Given the description of an element on the screen output the (x, y) to click on. 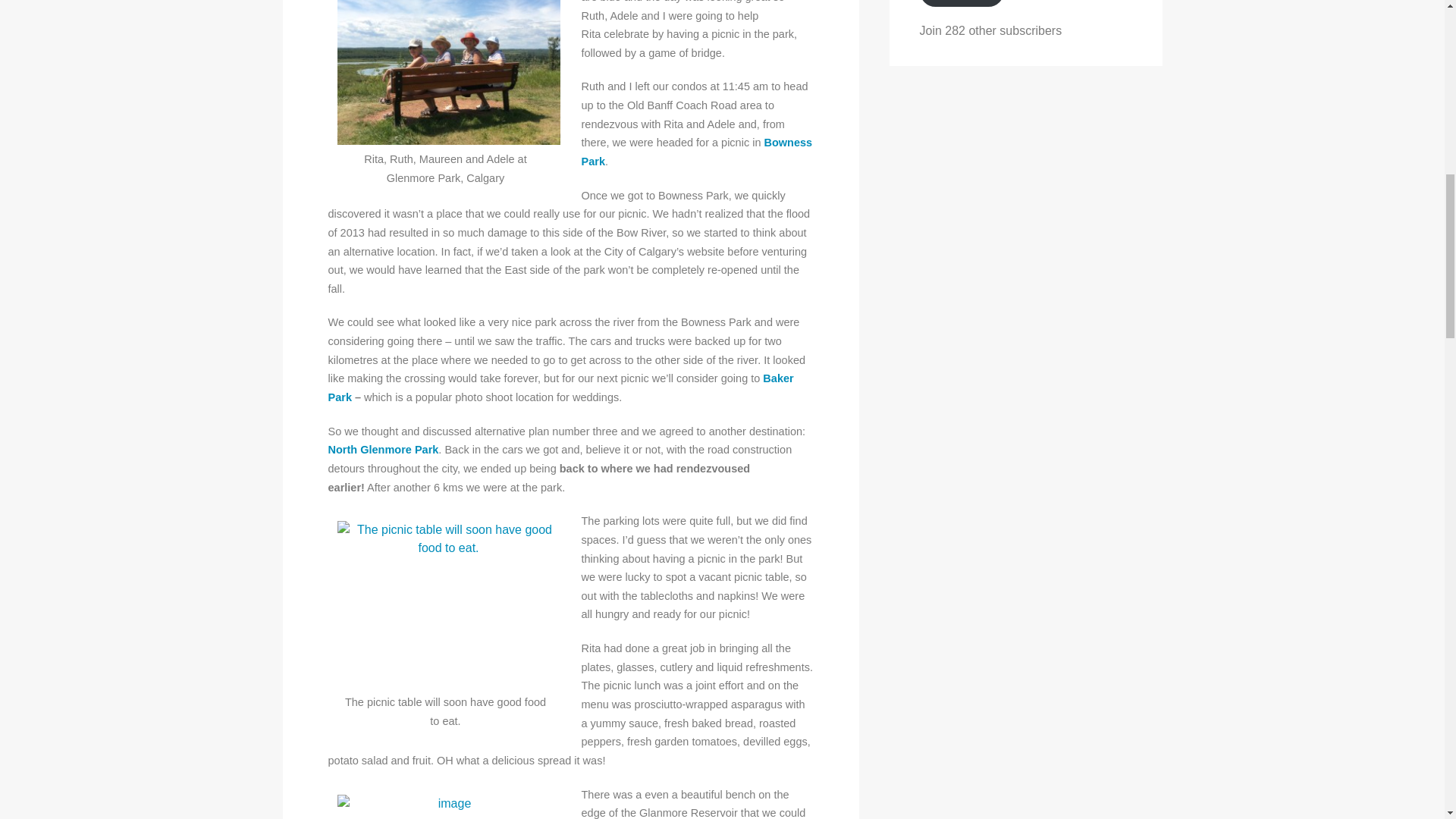
North Glenmore Park (382, 449)
Subscribe (962, 3)
Baker Park (560, 387)
Bowness Park (696, 151)
